Given the description of an element on the screen output the (x, y) to click on. 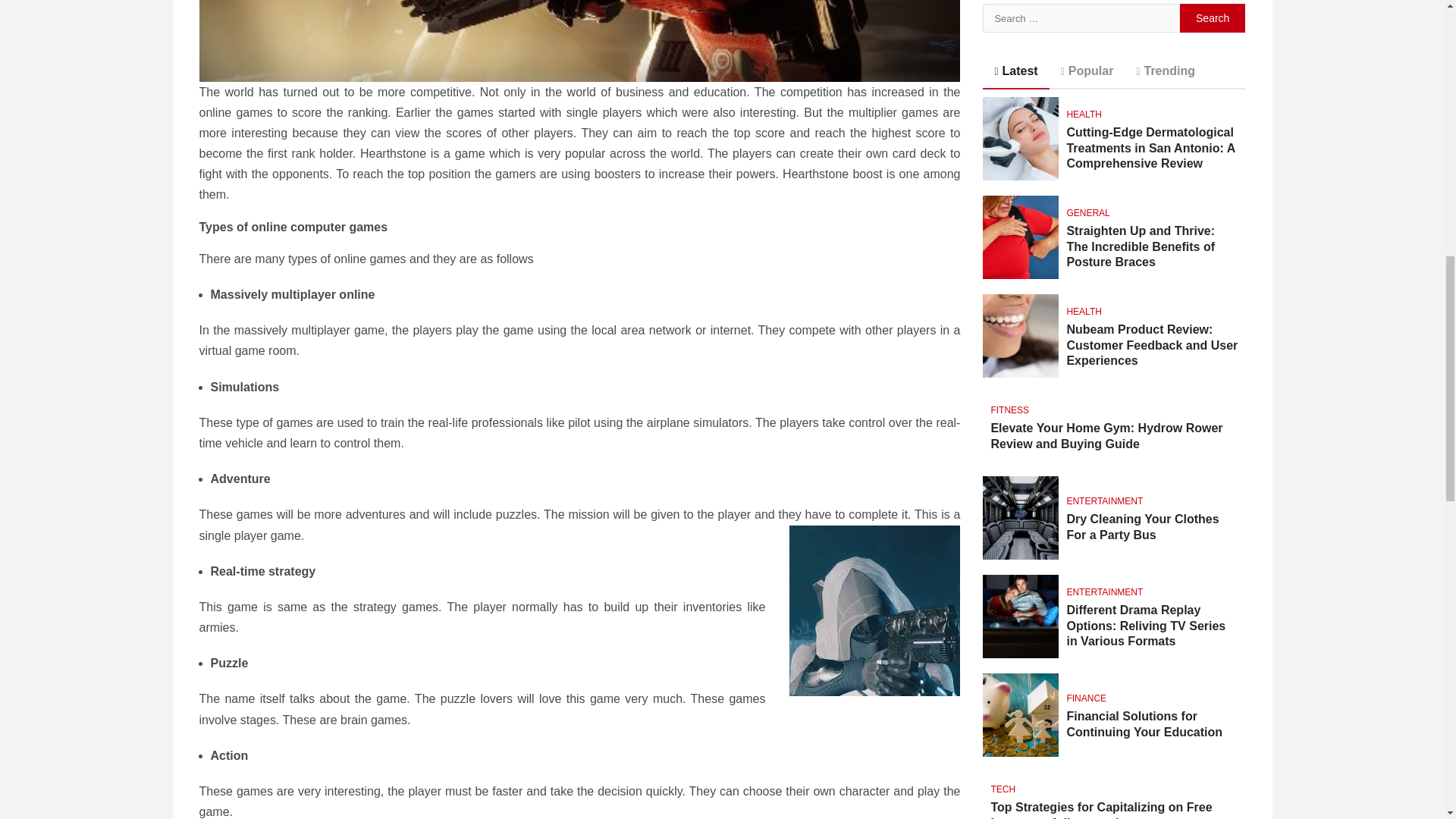
Search (1212, 18)
Search (1212, 18)
